Given the description of an element on the screen output the (x, y) to click on. 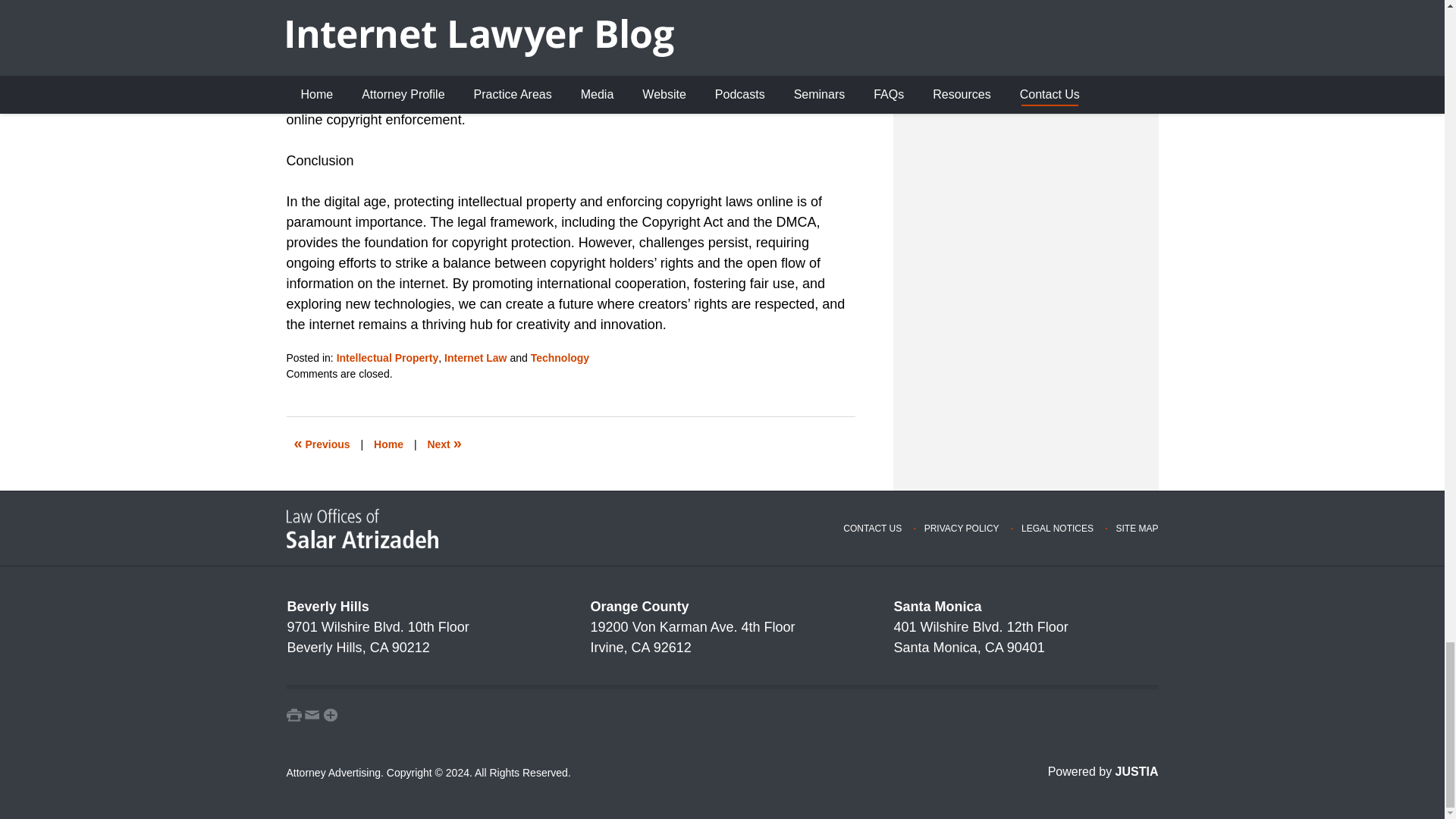
View all posts in Internet Law (475, 357)
Email this page (312, 714)
View all posts in Intellectual Property (387, 357)
Add to Favorites (330, 714)
Punitive Damages: California State and Federal Laws (322, 443)
View all posts in Technology (560, 357)
Print this page (293, 714)
